Given the description of an element on the screen output the (x, y) to click on. 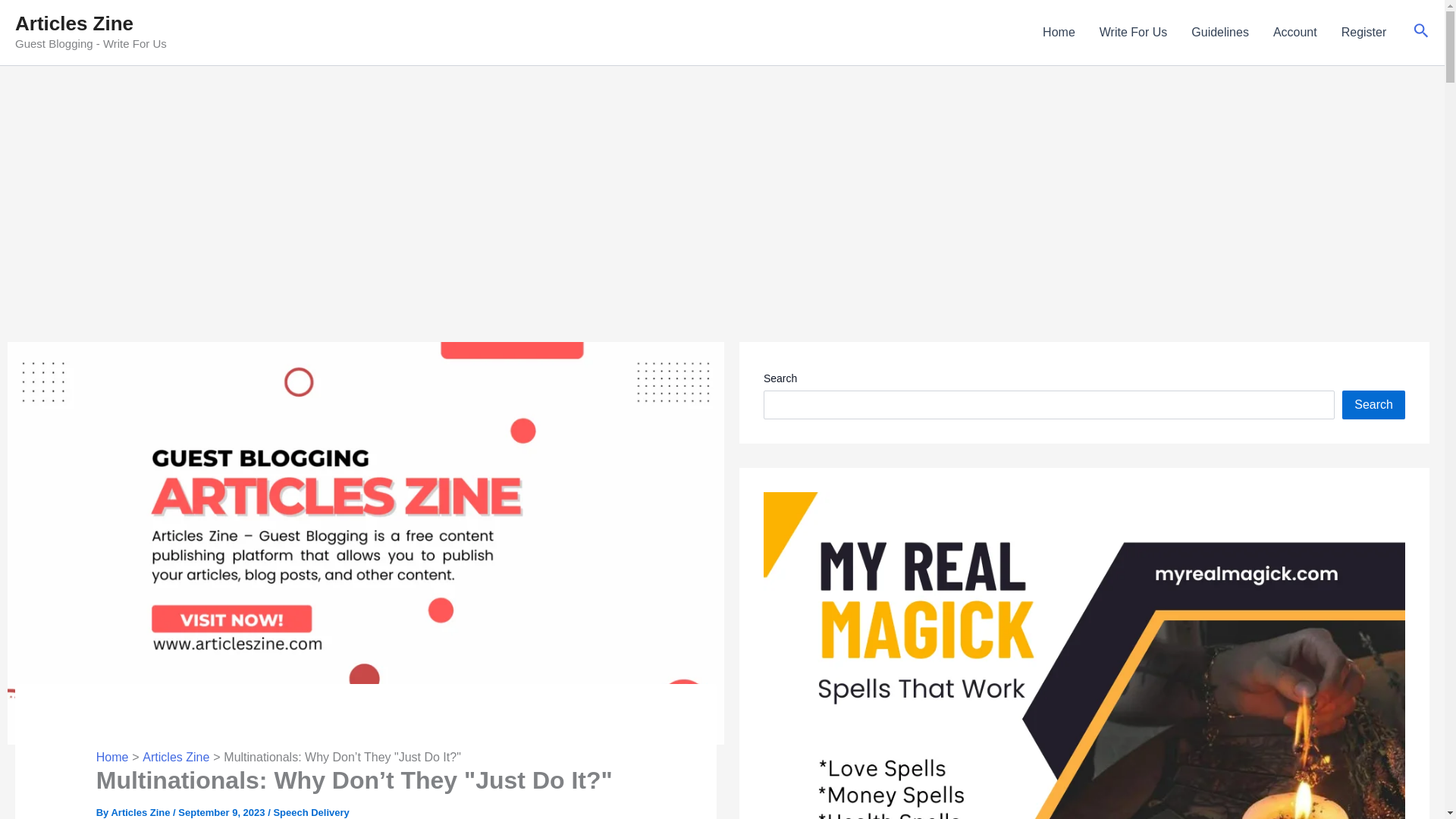
Guidelines (1219, 32)
Account (1294, 32)
Articles Zine (73, 23)
Home (1058, 32)
View all posts by Articles Zine (141, 812)
Write For Us (1133, 32)
Articles Zine (175, 757)
Home (112, 757)
